Given the description of an element on the screen output the (x, y) to click on. 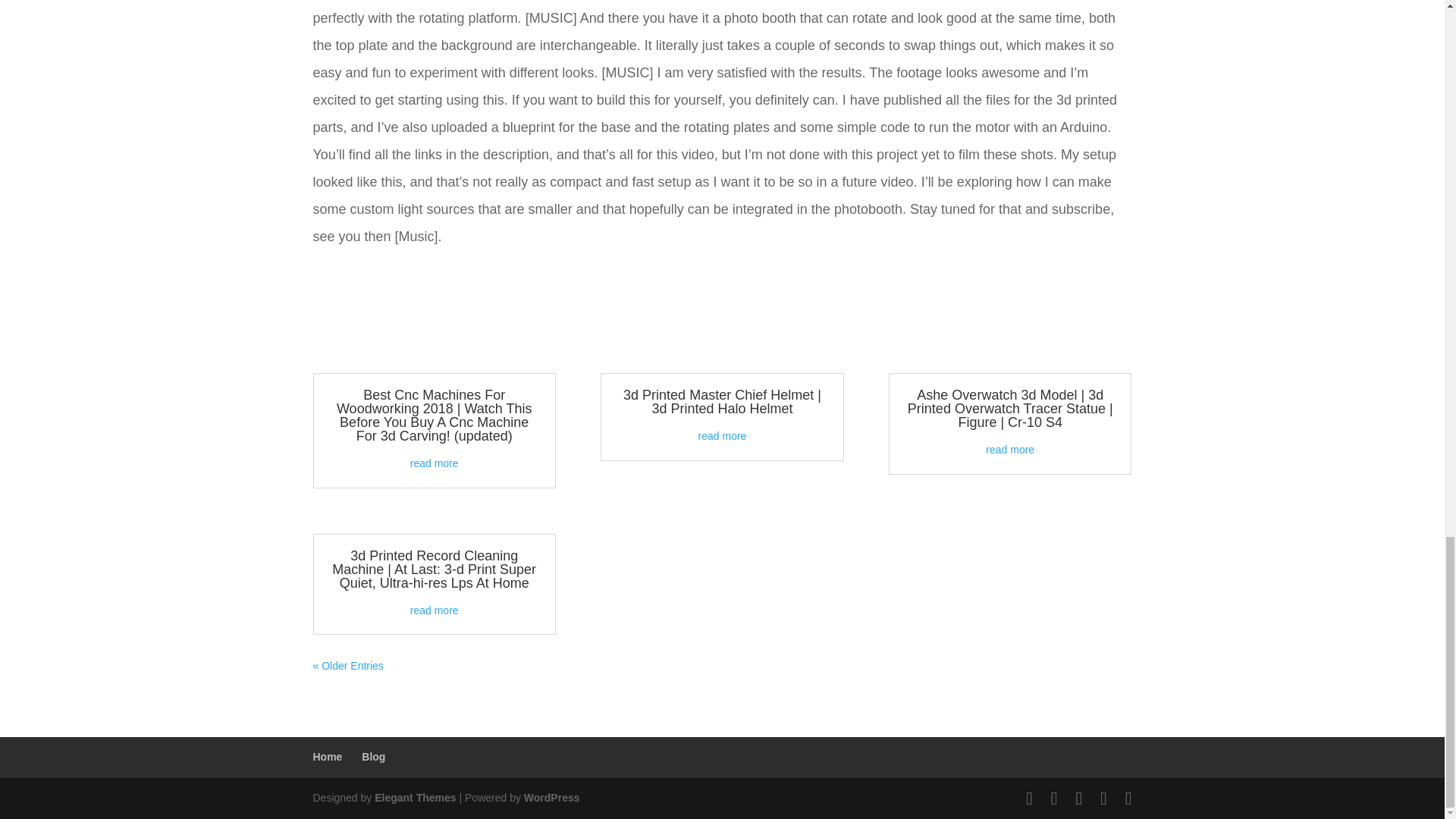
WordPress (551, 797)
Premium WordPress Themes (414, 797)
read more (1009, 449)
read more (434, 610)
read more (722, 435)
Blog (373, 756)
Elegant Themes (414, 797)
read more (434, 463)
Home (327, 756)
